Given the description of an element on the screen output the (x, y) to click on. 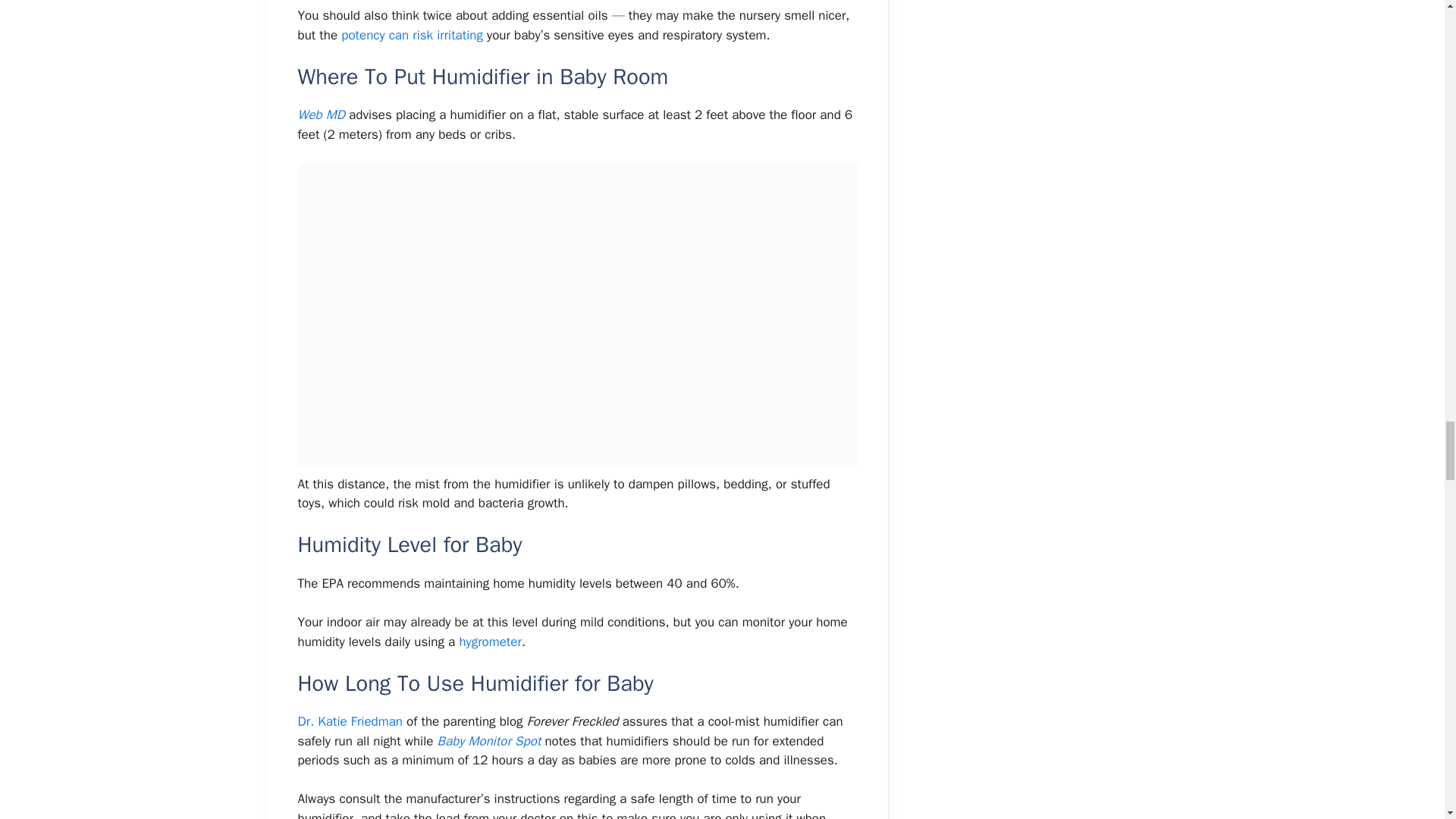
Dr. Katie Friedman (350, 721)
Web MD (321, 114)
potency can risk irritating (410, 35)
hygrometer (489, 641)
